Given the description of an element on the screen output the (x, y) to click on. 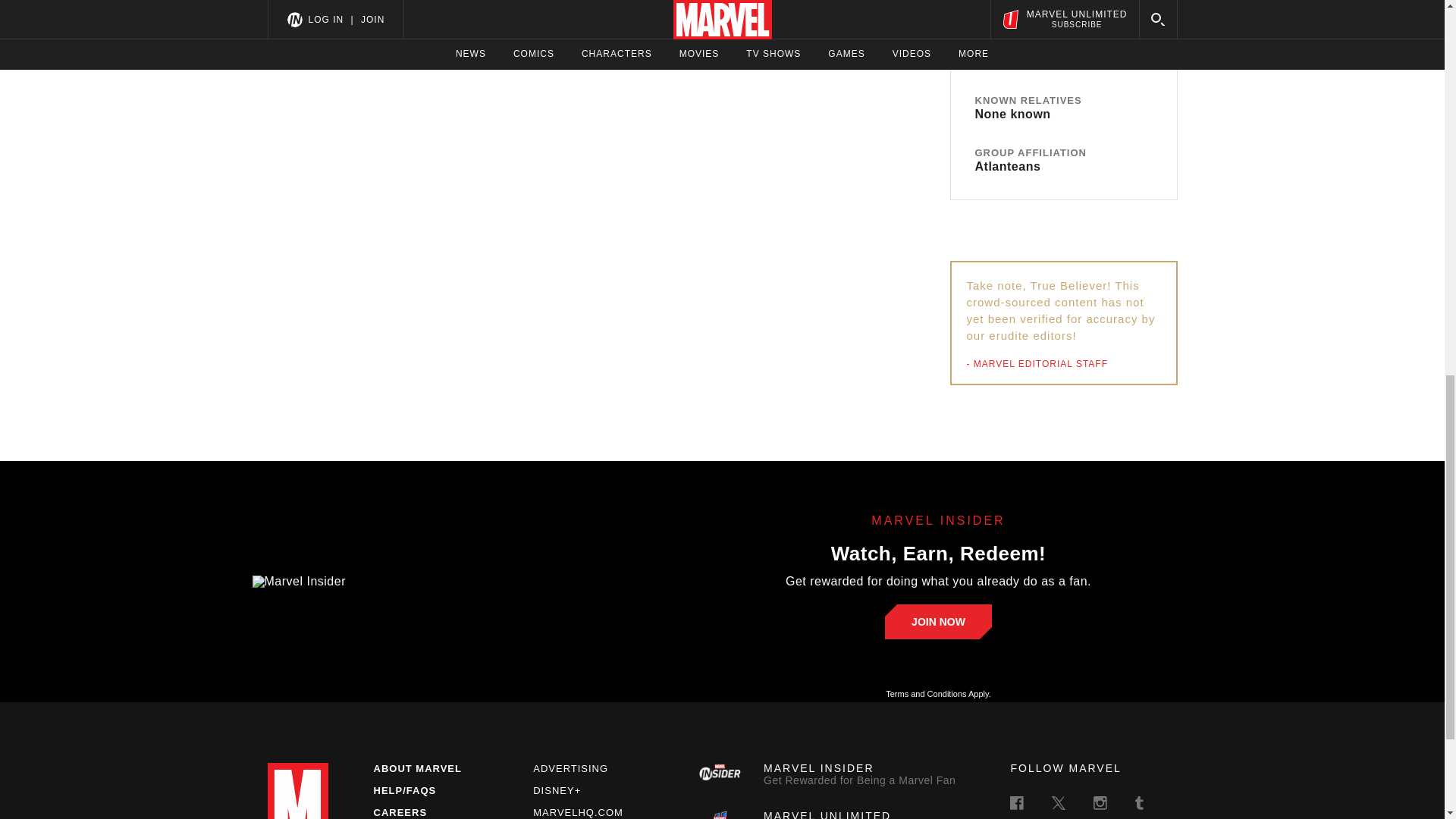
ABOUT MARVEL (416, 767)
MARVELHQ.COM (577, 812)
CAREERS (828, 774)
ADVERTISING (399, 812)
JOIN NOW (570, 767)
